Given the description of an element on the screen output the (x, y) to click on. 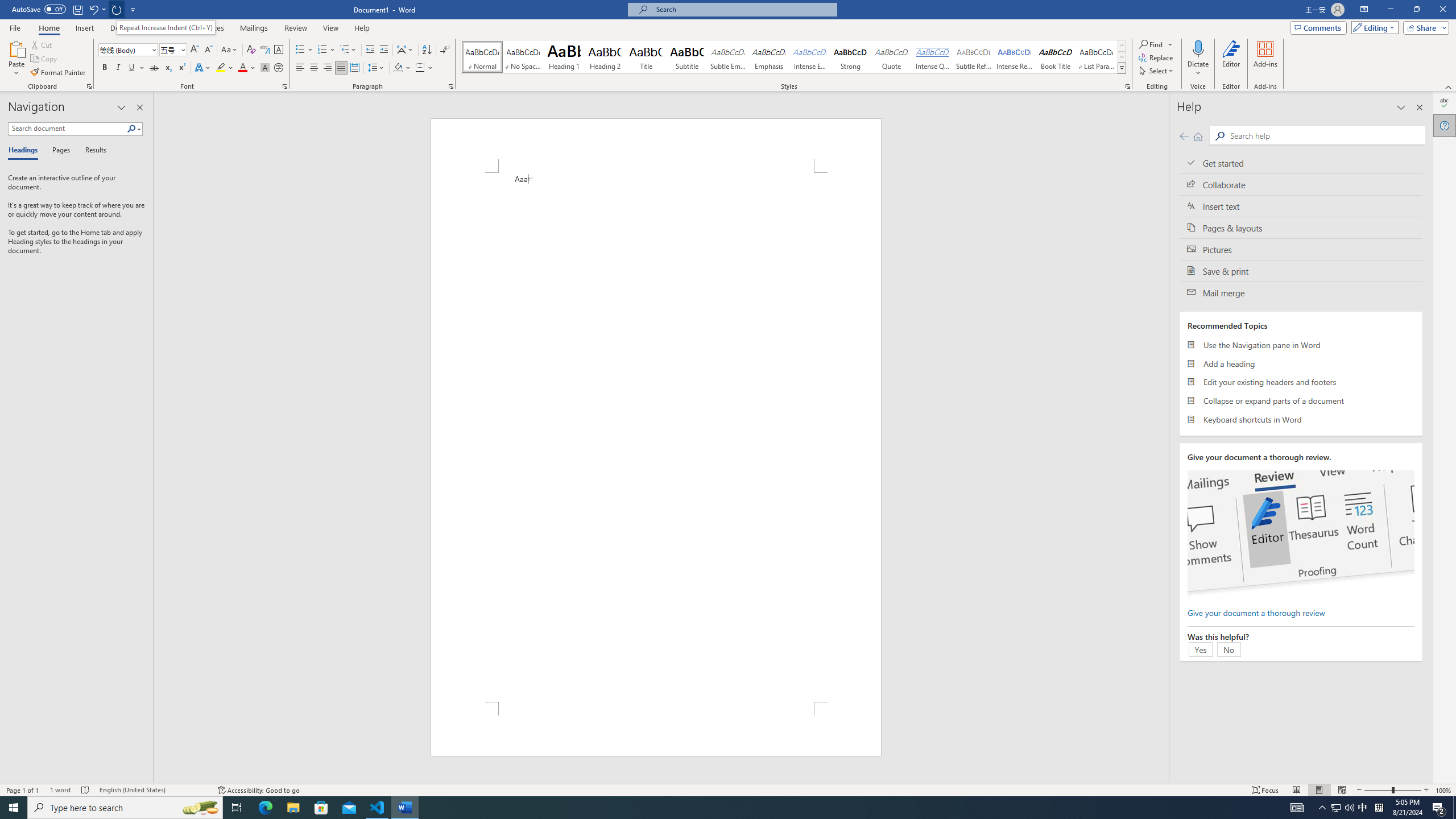
Add a heading (1300, 363)
Collapse or expand parts of a document (1300, 400)
Insert text (1300, 206)
